Given the description of an element on the screen output the (x, y) to click on. 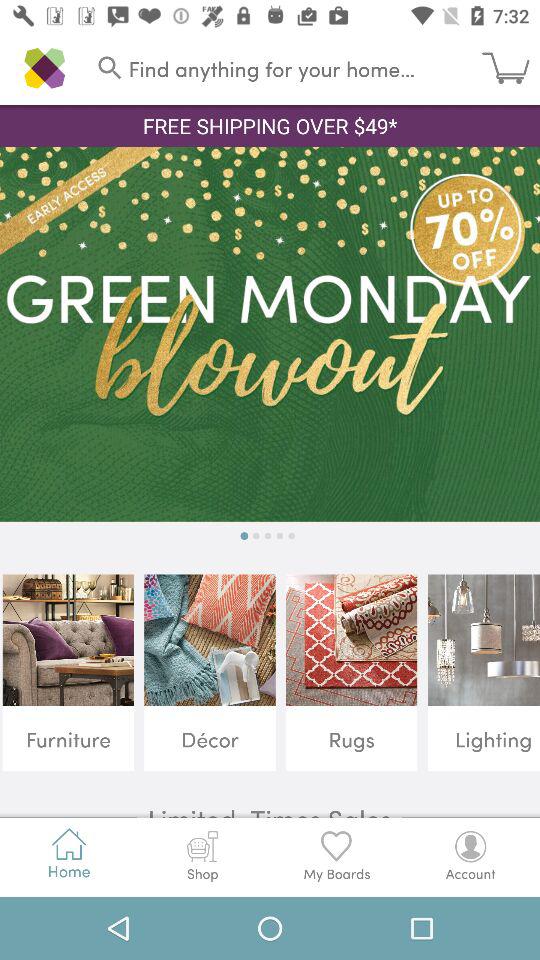
click icon next to find anything for (511, 68)
